Given the description of an element on the screen output the (x, y) to click on. 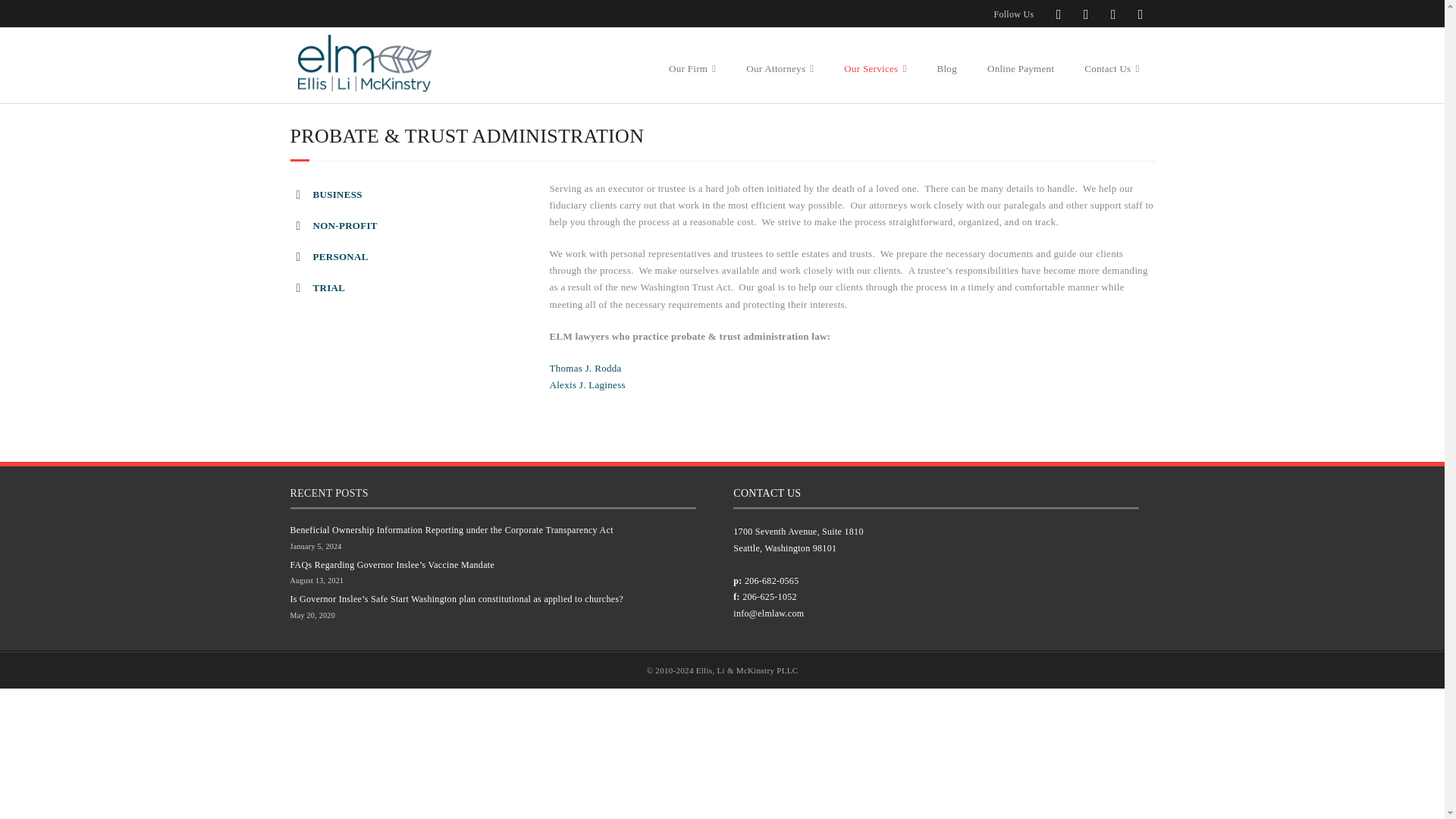
Our Attorneys (779, 55)
Our Services (874, 55)
Our Firm (691, 55)
